Given the description of an element on the screen output the (x, y) to click on. 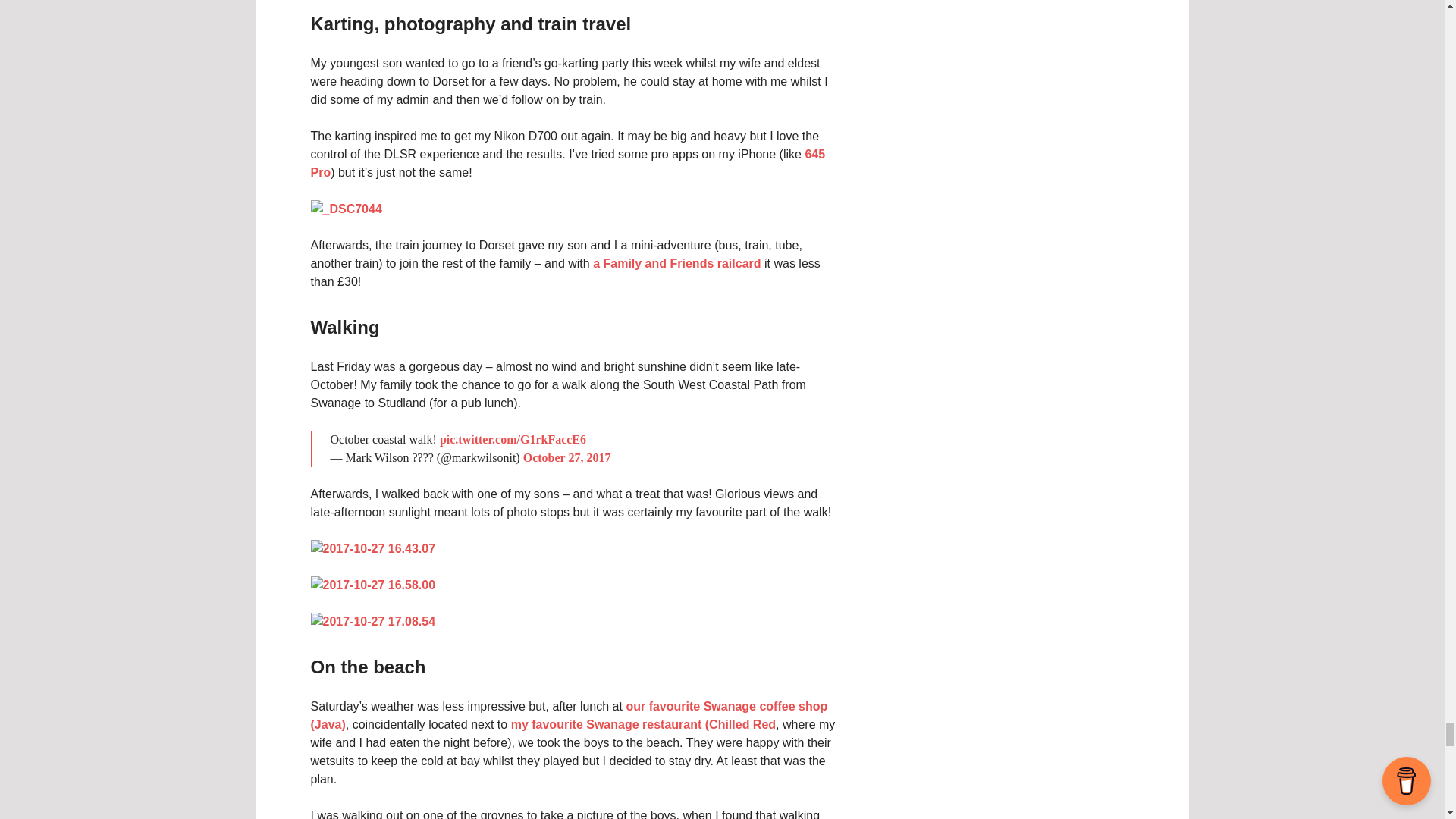
2017-10-27 16.58.00 (373, 584)
2017-10-27 16.43.07 (373, 548)
